Given the description of an element on the screen output the (x, y) to click on. 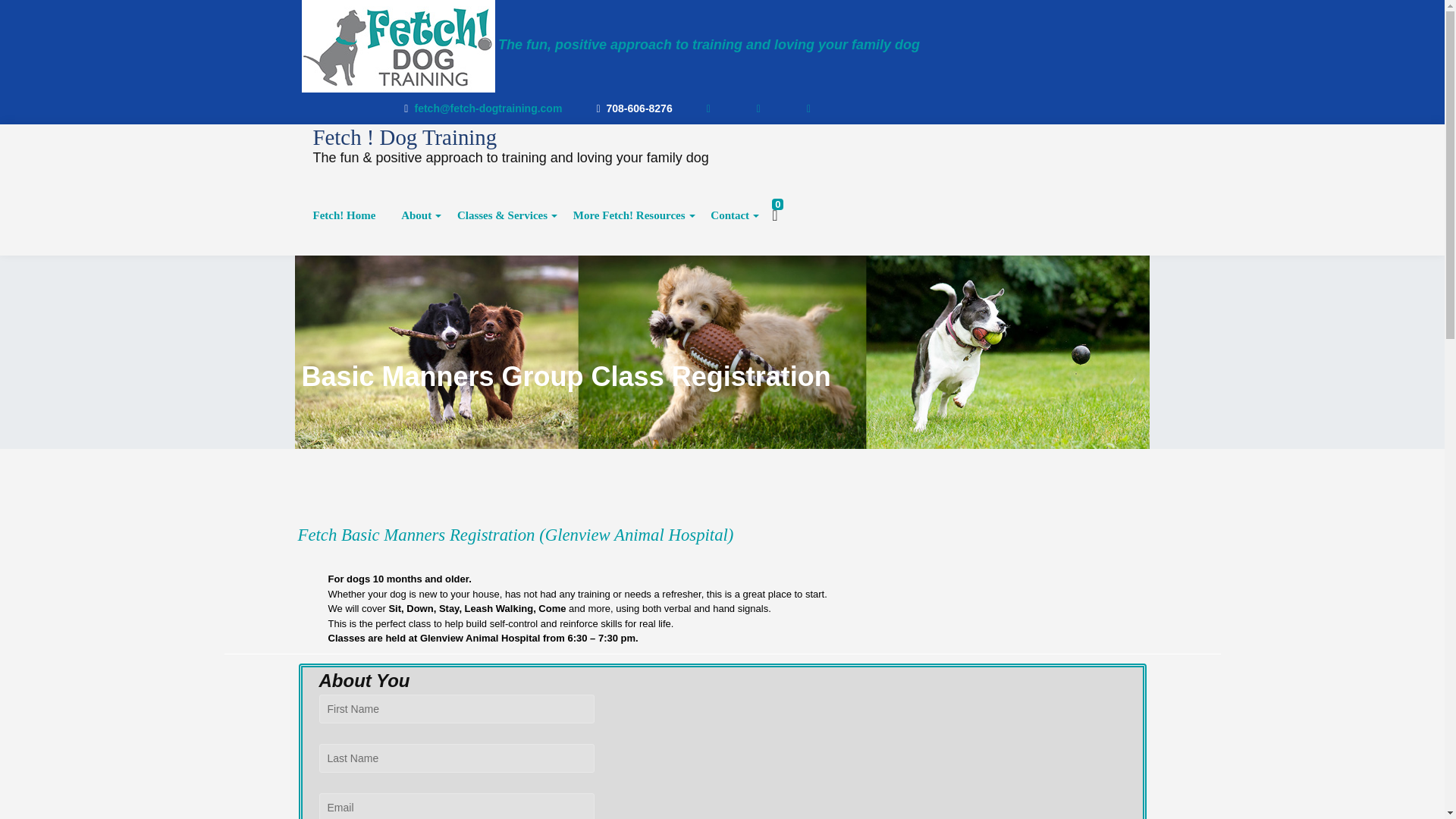
More Fetch! Resources (629, 215)
Fetch ! Dog Training (399, 137)
Fetch! Home (344, 215)
